Given the description of an element on the screen output the (x, y) to click on. 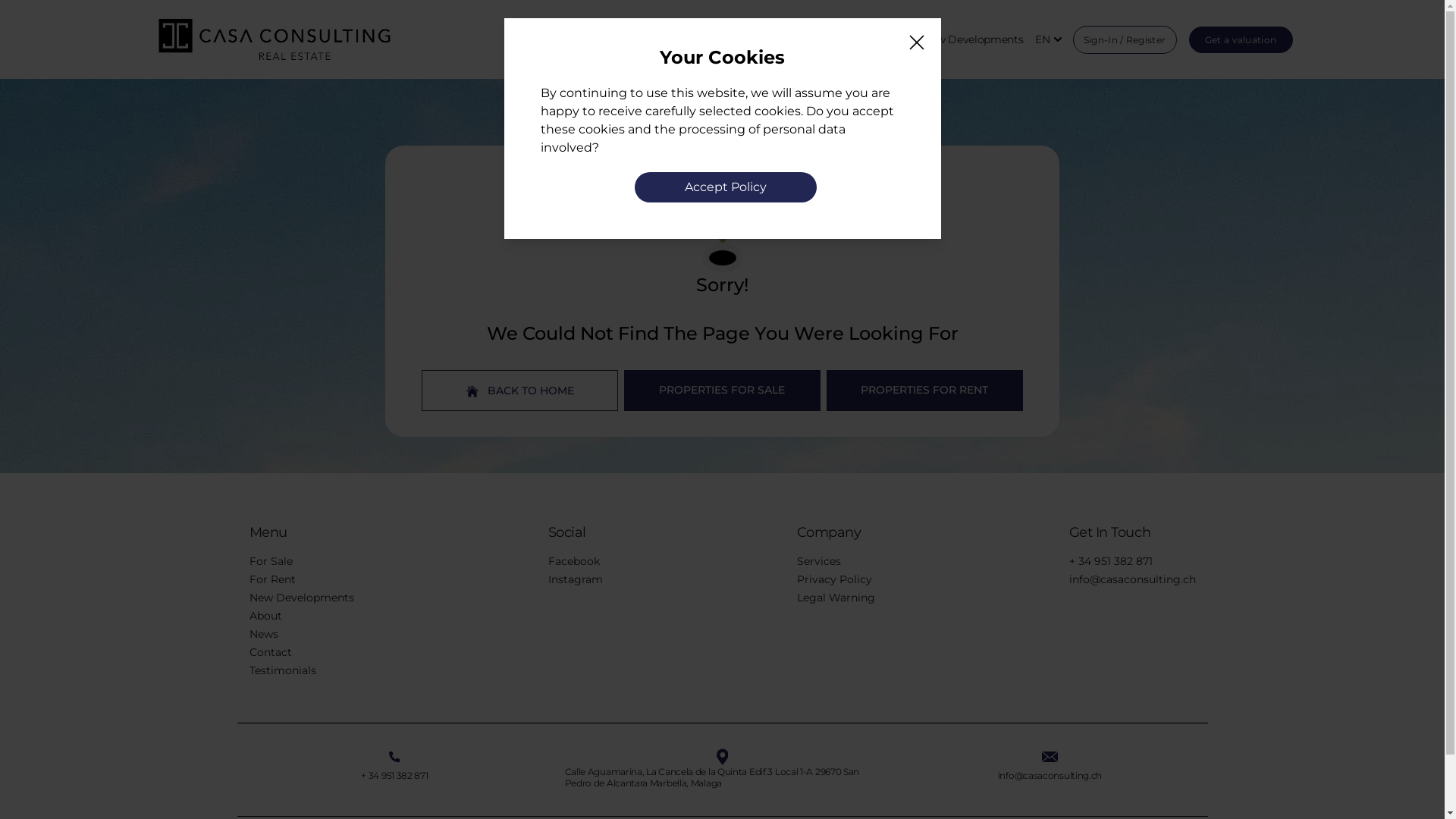
Instagram Element type: text (574, 579)
New Developments Element type: text (300, 597)
For Sale Element type: text (832, 39)
For Rent Element type: text (271, 579)
For Sale Element type: text (269, 560)
Legal Warning Element type: text (835, 597)
About Element type: text (264, 615)
+ 34 951 382 871 Element type: text (393, 775)
info@casaconsulting.ch Element type: text (1132, 579)
Accept Policy Element type: text (724, 187)
Sign-In / Register Element type: text (1124, 39)
+ 34 951 382 871 Element type: text (1110, 560)
Facebook Element type: text (573, 560)
New Developments Element type: text (972, 39)
For Rent Element type: text (888, 39)
Contact Element type: text (269, 651)
Home Element type: text (785, 39)
Get a valuation Element type: text (1240, 38)
Testimonials Element type: text (281, 670)
Privacy Policy Element type: text (833, 579)
PROPERTIES FOR SALE Element type: text (722, 390)
BACK TO HOME Element type: text (519, 390)
PROPERTIES FOR RENT Element type: text (924, 390)
info@casaconsulting.ch Element type: text (1049, 775)
Services Element type: text (818, 560)
News Element type: text (262, 633)
